Given the description of an element on the screen output the (x, y) to click on. 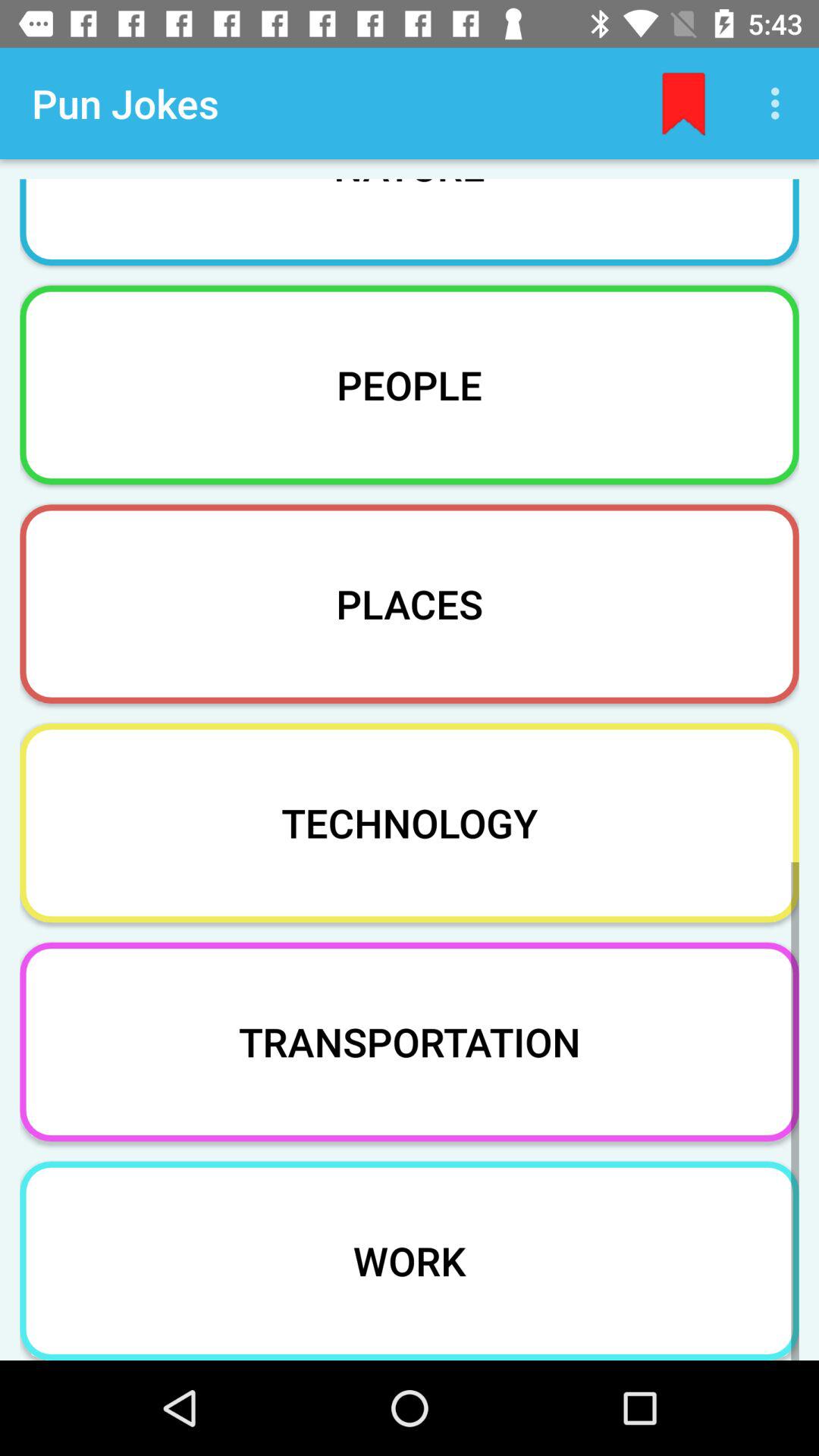
click people (409, 384)
